Given the description of an element on the screen output the (x, y) to click on. 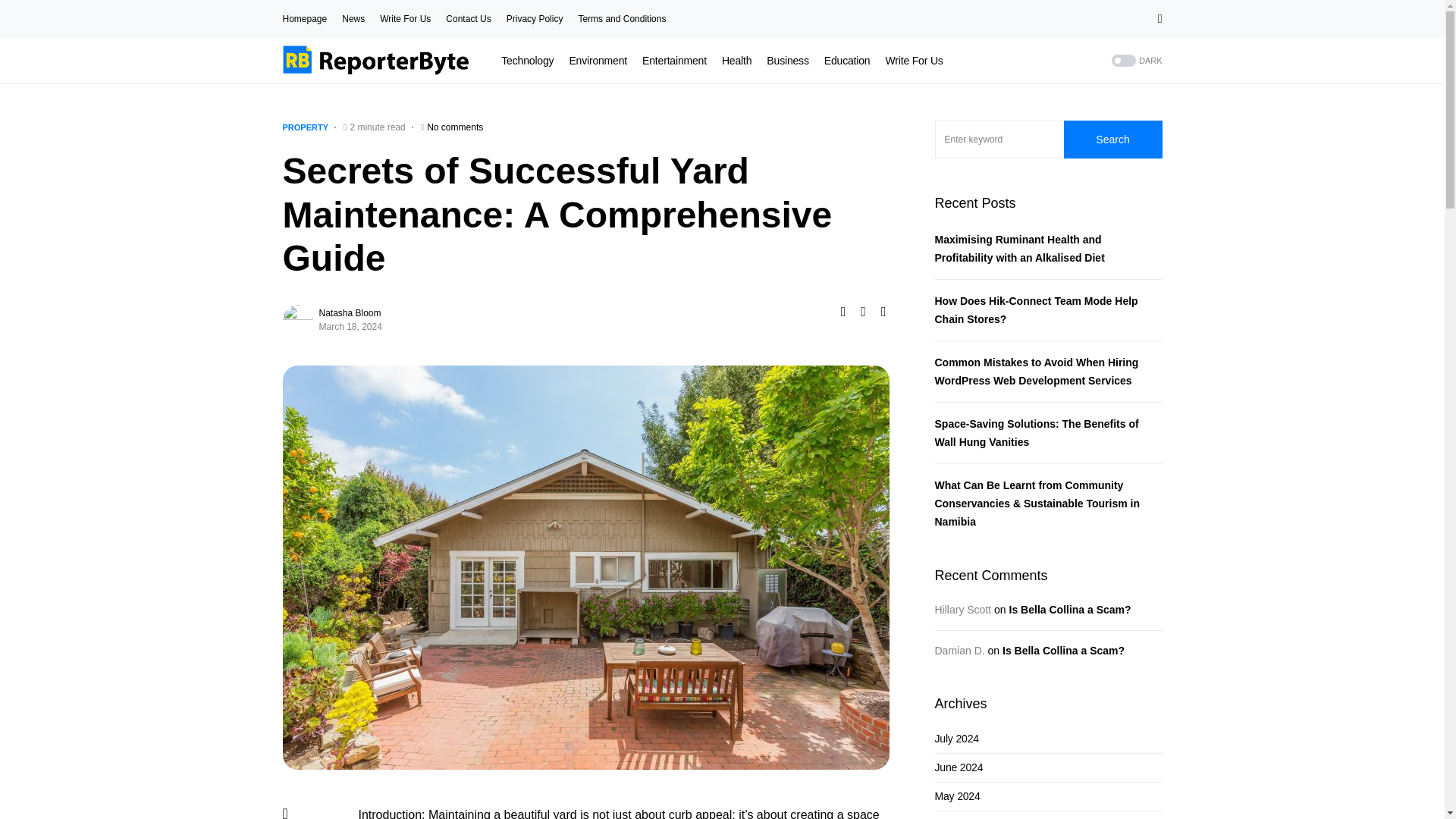
Entertainment (674, 60)
Terms and Conditions (621, 18)
Privacy Policy (534, 18)
Environment (598, 60)
Technology (526, 60)
News (353, 18)
Education (847, 60)
Write For Us (405, 18)
Write For Us (913, 60)
Contact Us (467, 18)
